Given the description of an element on the screen output the (x, y) to click on. 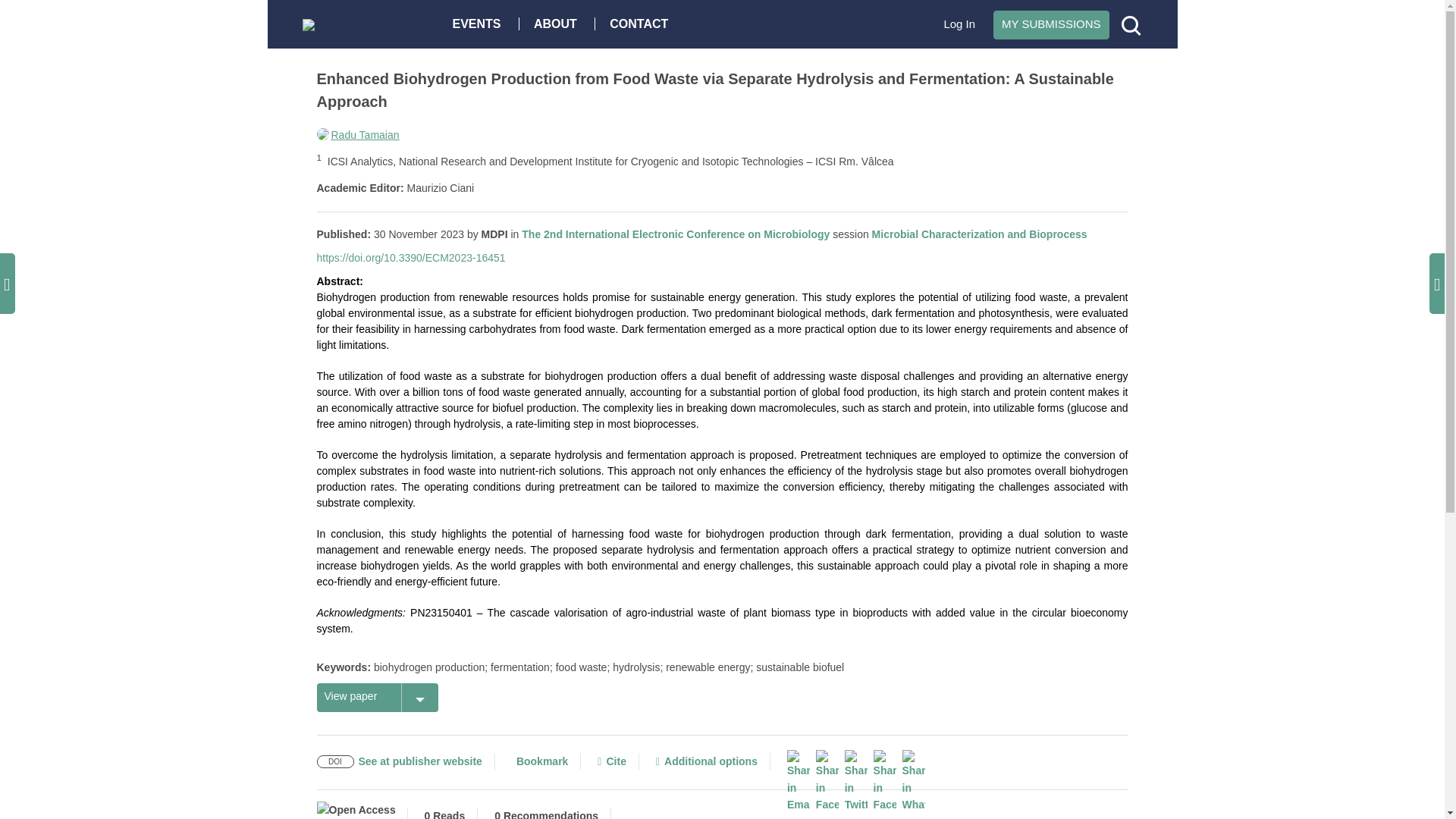
CONTACT (641, 23)
Microbial Characterization and Bioprocess (979, 234)
Radu Tamaian (357, 134)
MY SUBMISSIONS (1050, 24)
ABOUT (558, 23)
EVENTS (480, 23)
The 2nd International Electronic Conference on Microbiology (675, 234)
